Given the description of an element on the screen output the (x, y) to click on. 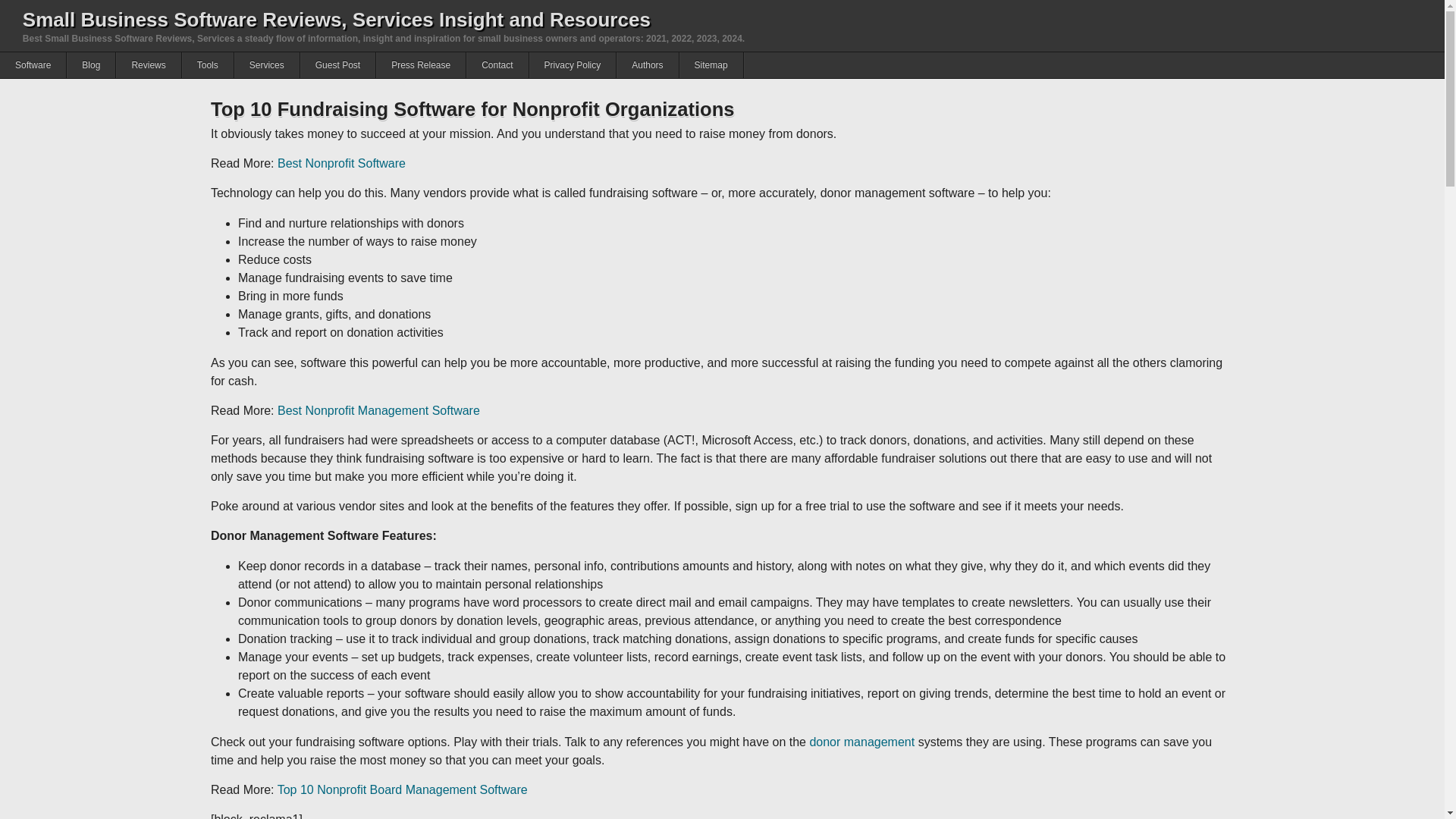
Reviews (148, 64)
donor management (861, 741)
Best Nonprofit Management Software (379, 410)
Tools (208, 64)
Sitemap (711, 64)
Privacy Policy (573, 64)
Top 10 Nonprofit Board Management Software (402, 789)
Press Release (420, 64)
Blog (91, 64)
